Given the description of an element on the screen output the (x, y) to click on. 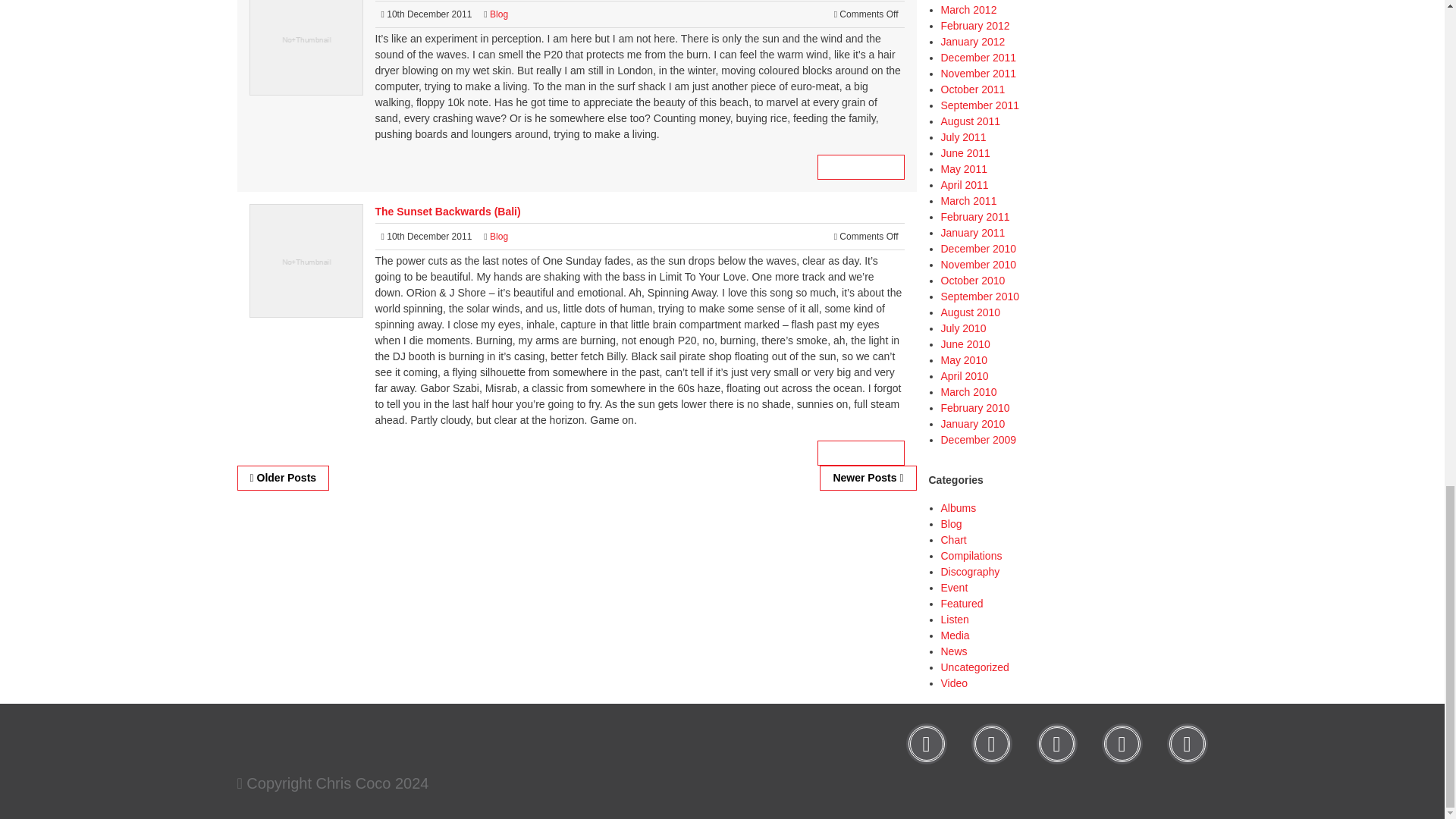
Read More (860, 166)
Newer Posts (867, 478)
Blog (498, 14)
The Dream Is In The Detail (860, 166)
Older Posts (282, 478)
Blog (498, 235)
Read More (860, 453)
